Given the description of an element on the screen output the (x, y) to click on. 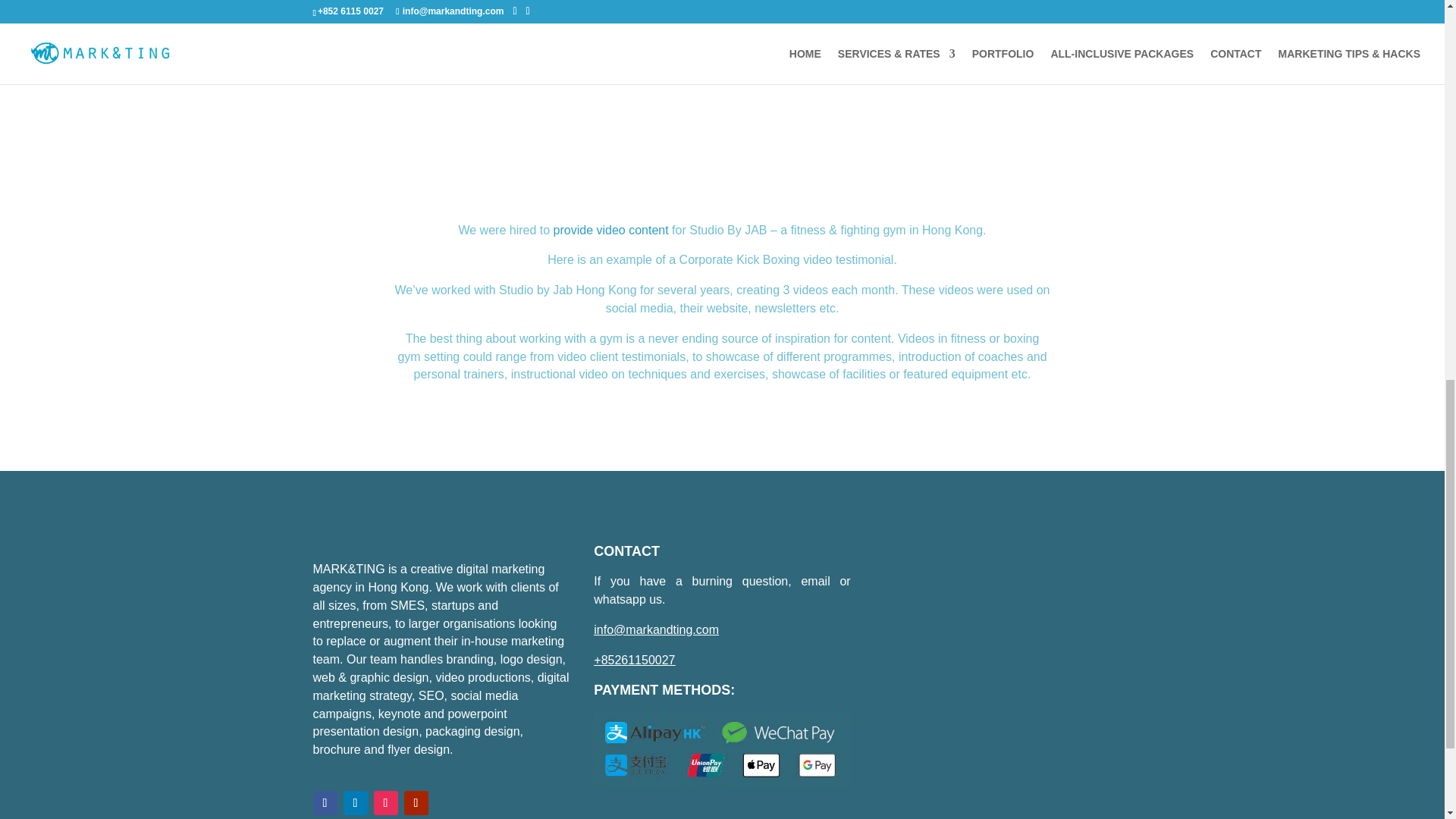
Follow on LinkedIn (354, 802)
MARKTING-location-map-2 (1002, 672)
Follow on Facebook (324, 802)
Follow on Instagram (384, 802)
Follow on Youtube (415, 802)
provide video content (610, 229)
